Given the description of an element on the screen output the (x, y) to click on. 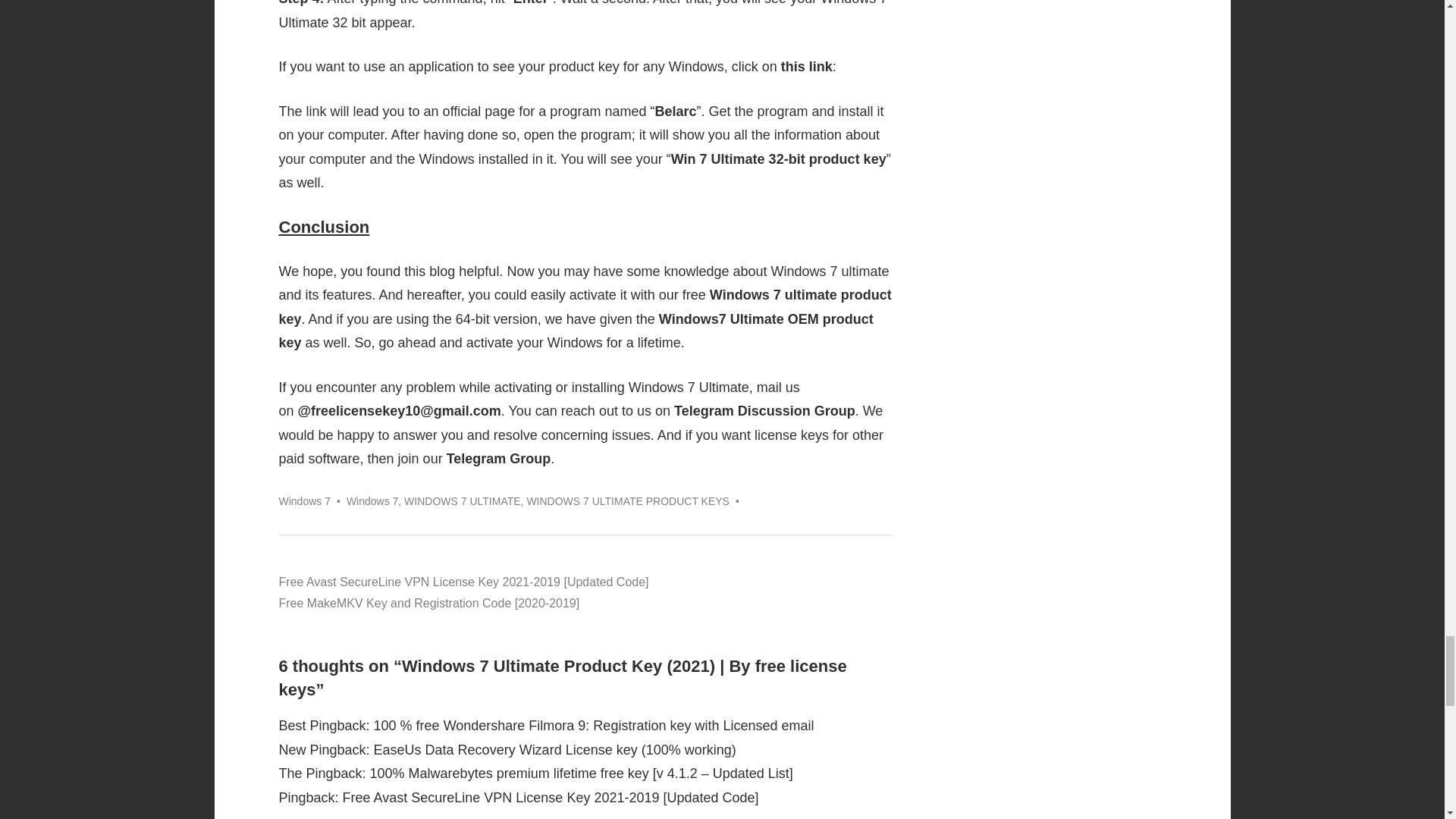
Previous (464, 581)
Next (429, 603)
